Given the description of an element on the screen output the (x, y) to click on. 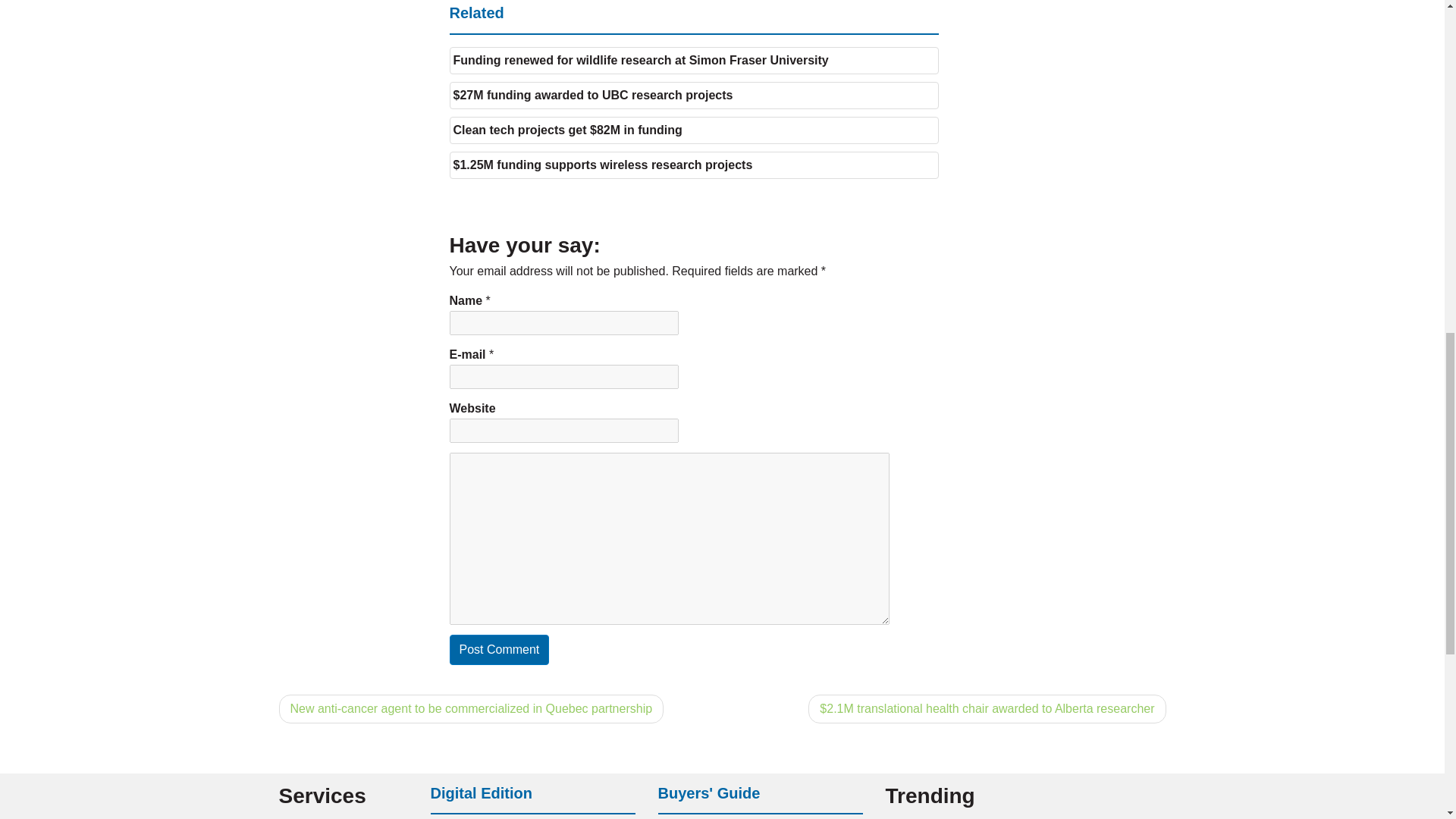
Post Comment (498, 649)
